Given the description of an element on the screen output the (x, y) to click on. 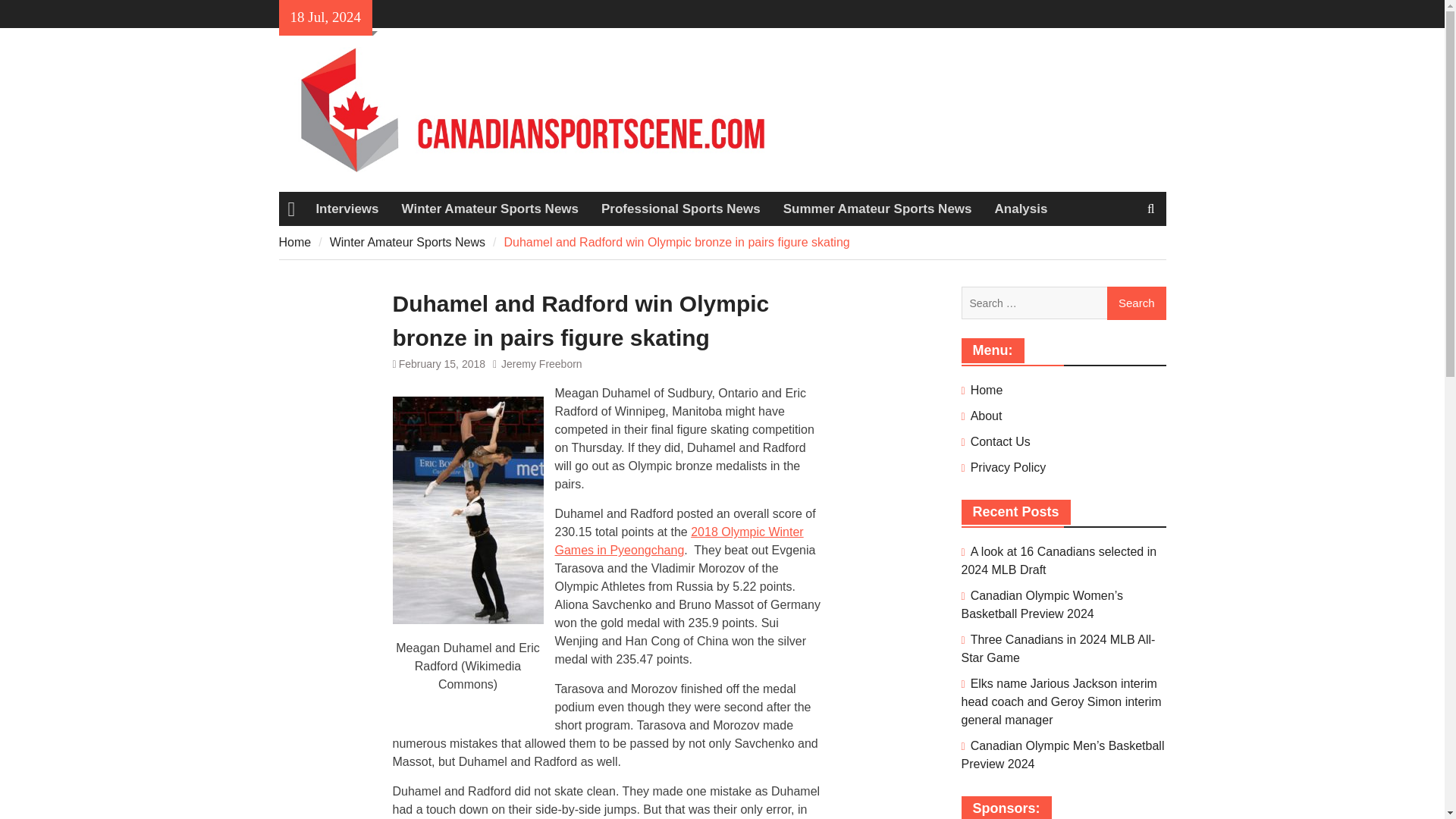
Home (291, 208)
Home (295, 241)
Search (1136, 303)
Search (1136, 303)
Interviews (347, 208)
Winter Amateur Sports News (407, 241)
About (987, 415)
February 15, 2018 (441, 363)
Privacy Policy (1008, 467)
Home (987, 390)
Analysis (1021, 208)
Professional Sports News (680, 208)
2018 Olympic Winter Games in Pyeongchang (678, 540)
Summer Amateur Sports News (877, 208)
